Given the description of an element on the screen output the (x, y) to click on. 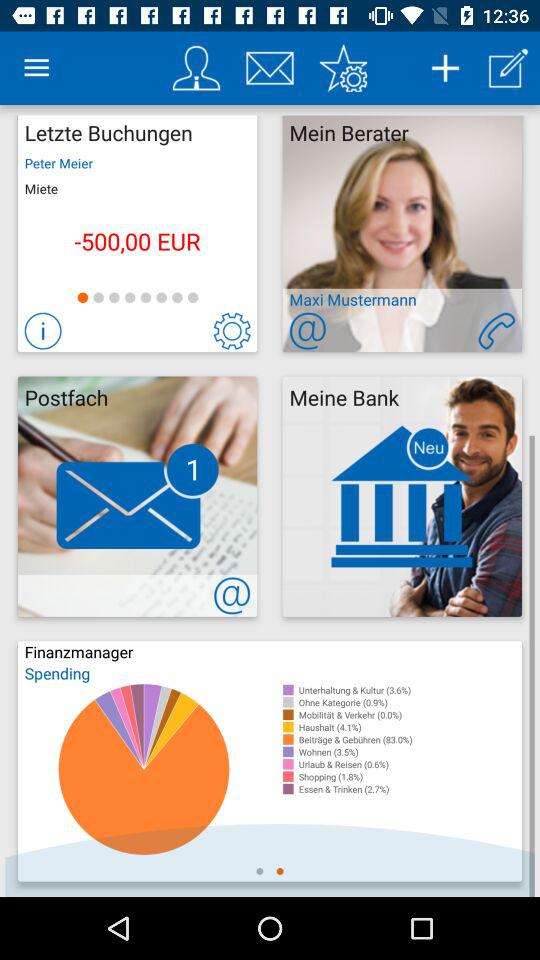
open item below wohnen (3.5%) icon (409, 764)
